Given the description of an element on the screen output the (x, y) to click on. 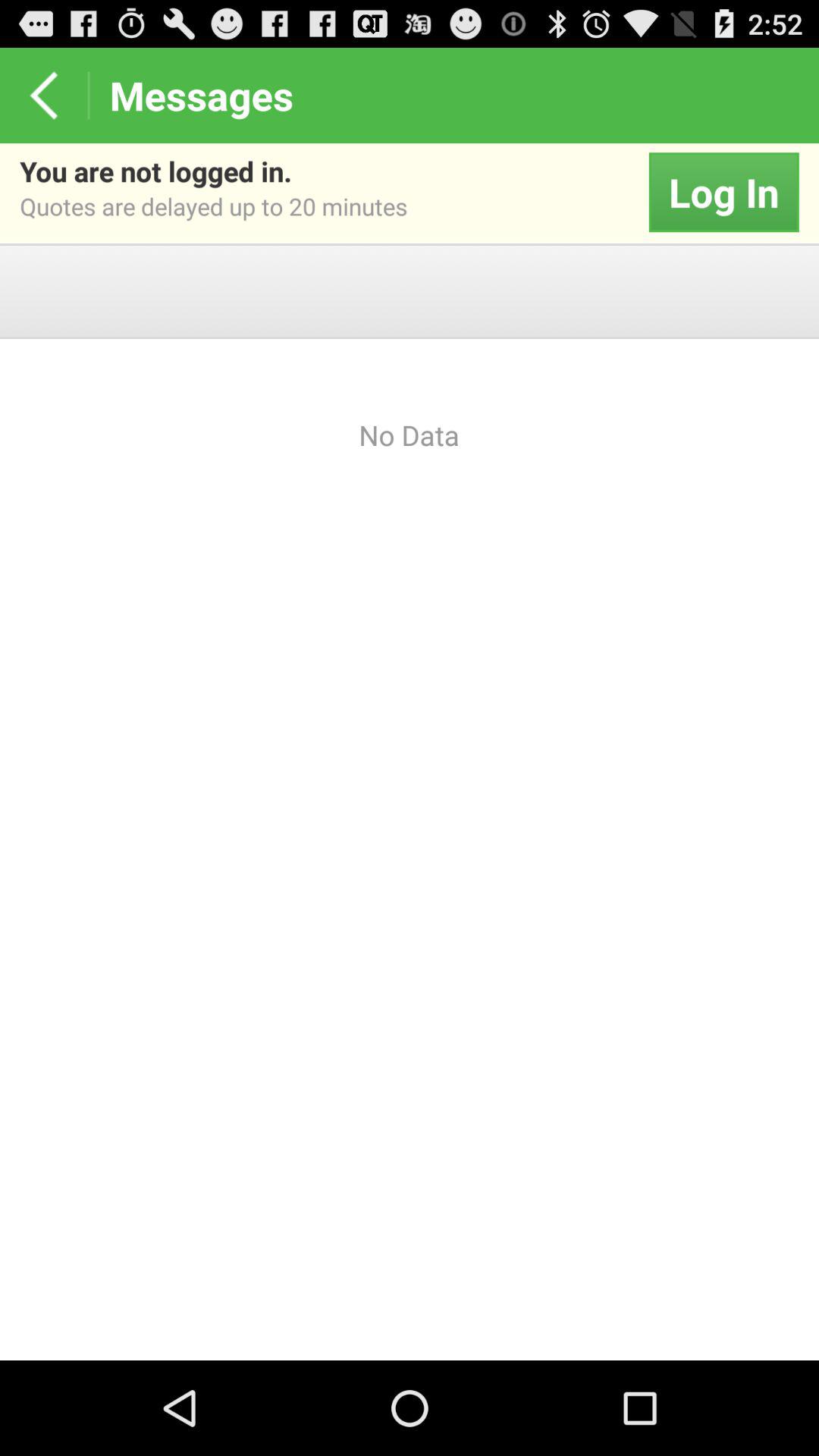
turn off the log in at the top right corner (723, 193)
